Given the description of an element on the screen output the (x, y) to click on. 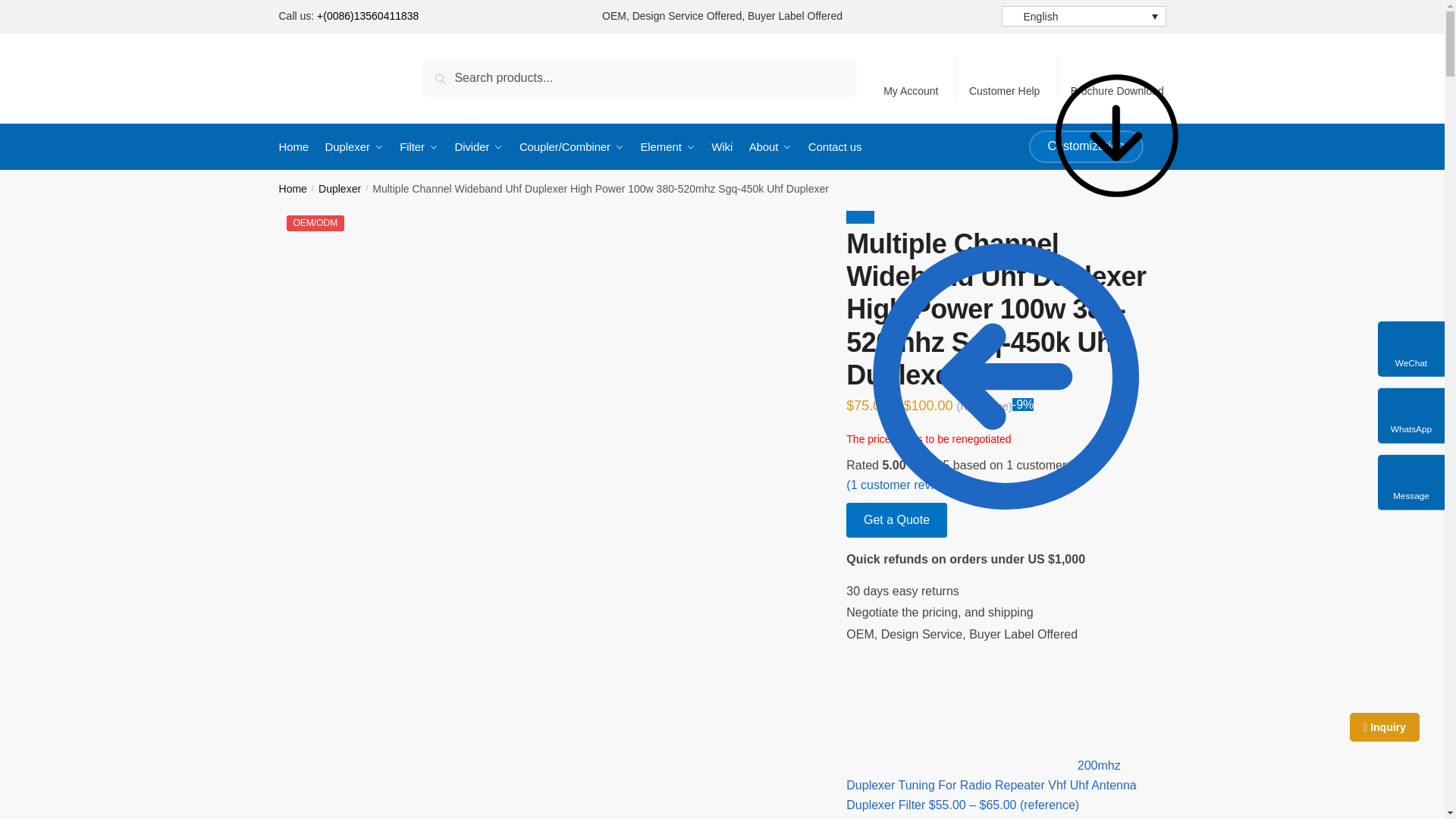
English (1083, 15)
Search (446, 70)
Customer Help (1004, 77)
Brochure Download (1117, 77)
Duplexer (354, 146)
Home (297, 146)
My Account (911, 77)
